Given the description of an element on the screen output the (x, y) to click on. 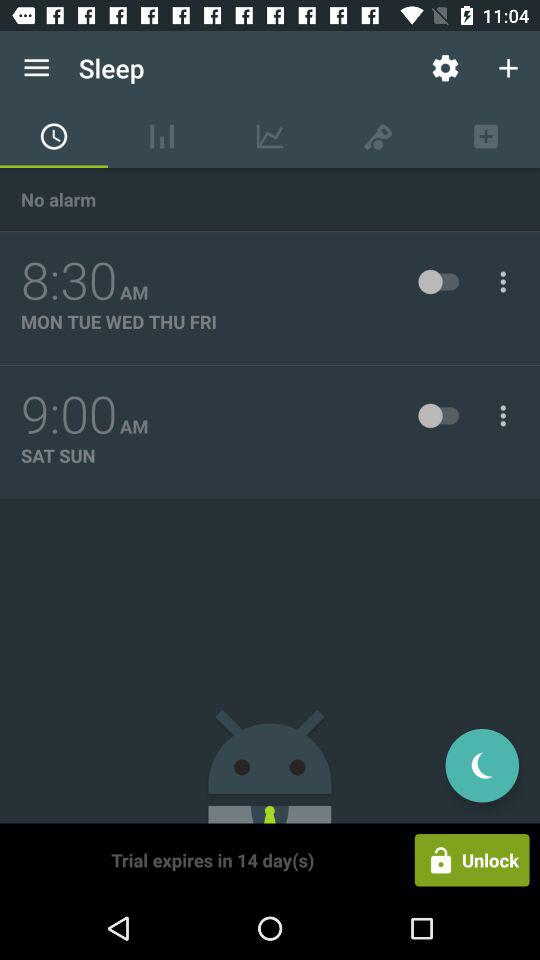
choose icon to the right of the sleep app (444, 67)
